Given the description of an element on the screen output the (x, y) to click on. 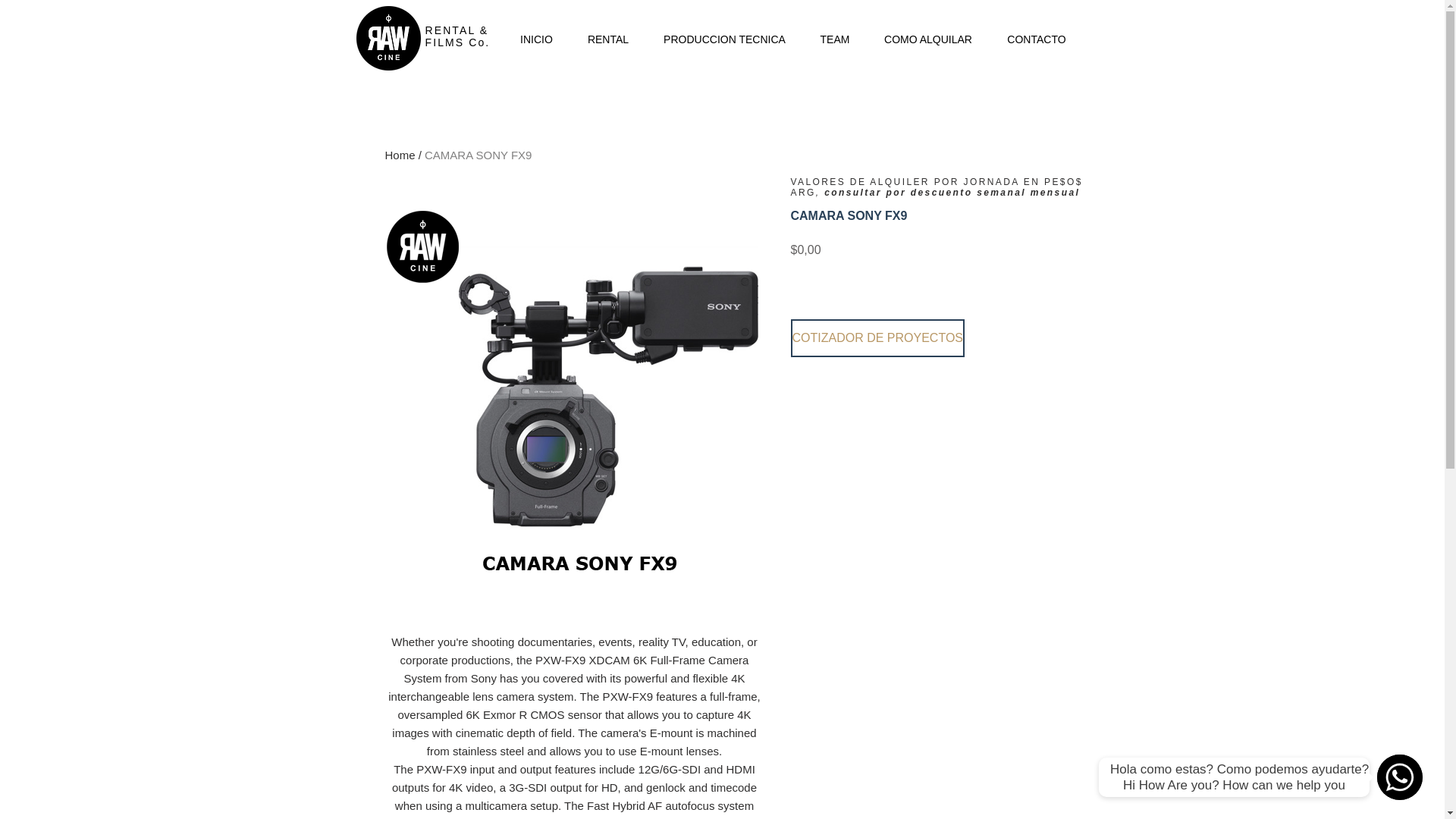
COTIZADOR DE PROYECTOS (876, 338)
CONTACTO (1035, 39)
TEAM (834, 39)
COMO ALQUILAR (928, 39)
Home (399, 154)
PRODUCCION TECNICA (724, 39)
RENTAL (608, 39)
INICIO (536, 39)
CAMARA SONY FX9 (478, 154)
